Given the description of an element on the screen output the (x, y) to click on. 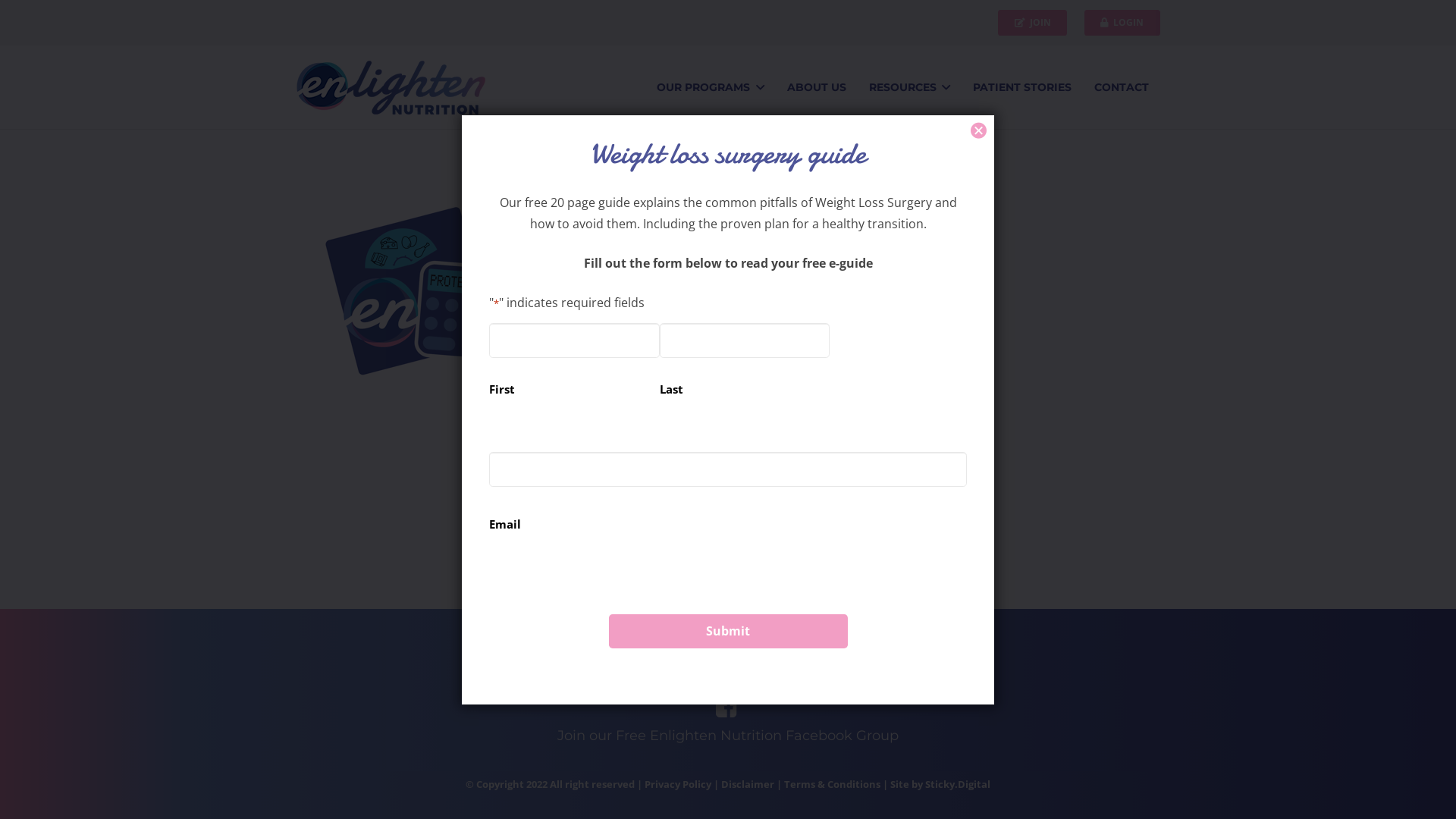
OUR PROGRAMS Element type: text (710, 87)
ABOUT US Element type: text (816, 87)
Privacy Policy Element type: text (677, 783)
Submit Element type: text (727, 631)
Join our Free Enlighten Nutrition Facebook Group Element type: text (727, 735)
CONTACT Element type: text (1121, 87)
RESOURCES Element type: text (909, 87)
Disclaimer Element type: text (747, 783)
LOGIN Element type: text (1122, 22)
Terms & Conditions Element type: text (832, 783)
Site by Sticky.Digital Element type: text (940, 783)
PATIENT STORIES Element type: text (1021, 87)
JOIN Element type: text (1031, 22)
